Given the description of an element on the screen output the (x, y) to click on. 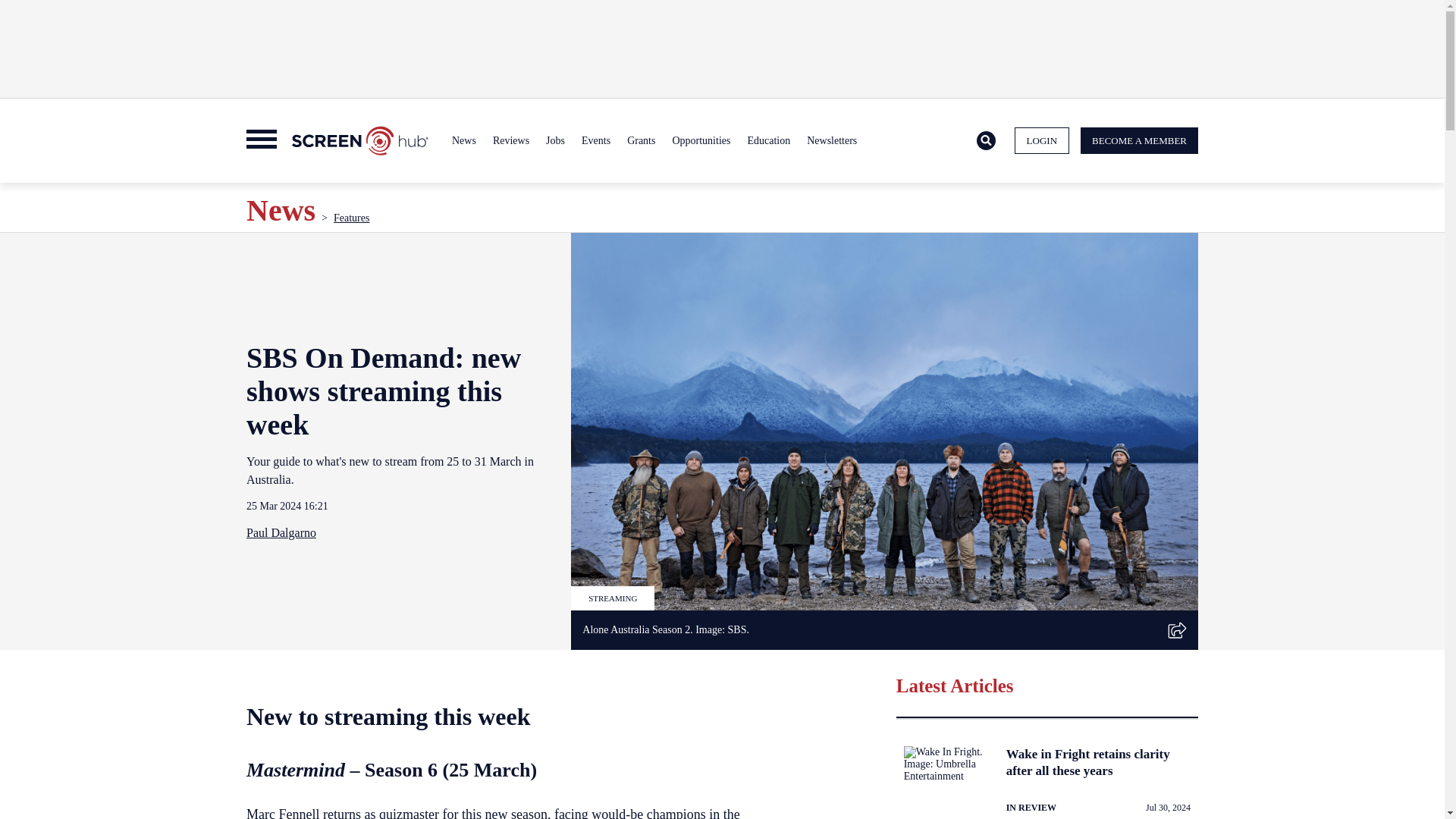
LOGIN (1041, 140)
Reviews (510, 140)
Grants (641, 140)
Search Icon (985, 140)
Opportunities (700, 140)
News (464, 140)
Jobs (555, 140)
Search Icon (985, 140)
BECOME A MEMBER (1139, 140)
Events (595, 140)
Education (768, 140)
Newsletters (832, 140)
